Given the description of an element on the screen output the (x, y) to click on. 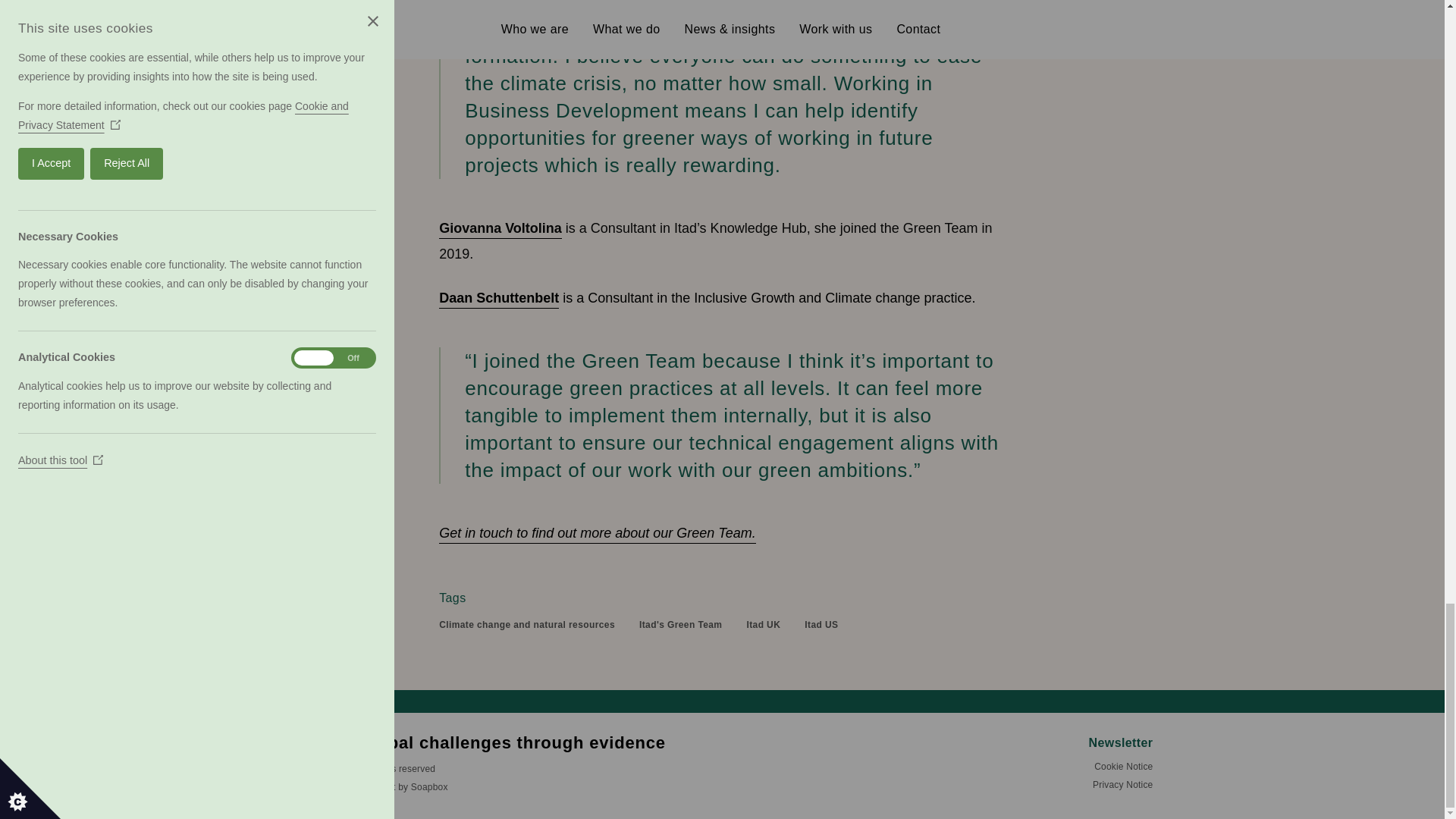
Go to homepage (500, 743)
